Given the description of an element on the screen output the (x, y) to click on. 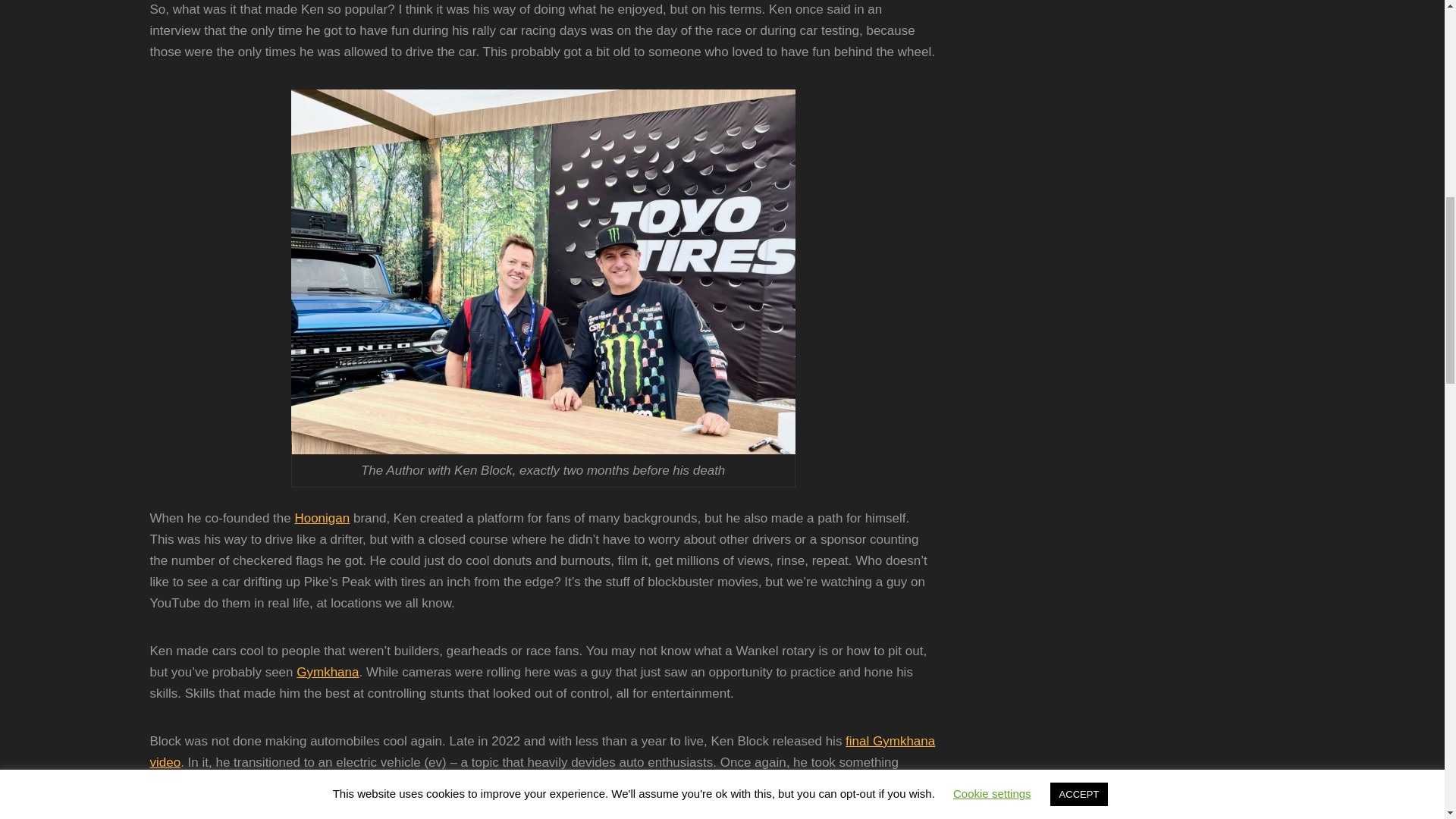
final Gymkhana video (542, 751)
Gymkhana (327, 672)
Hoonigan (321, 518)
